Given the description of an element on the screen output the (x, y) to click on. 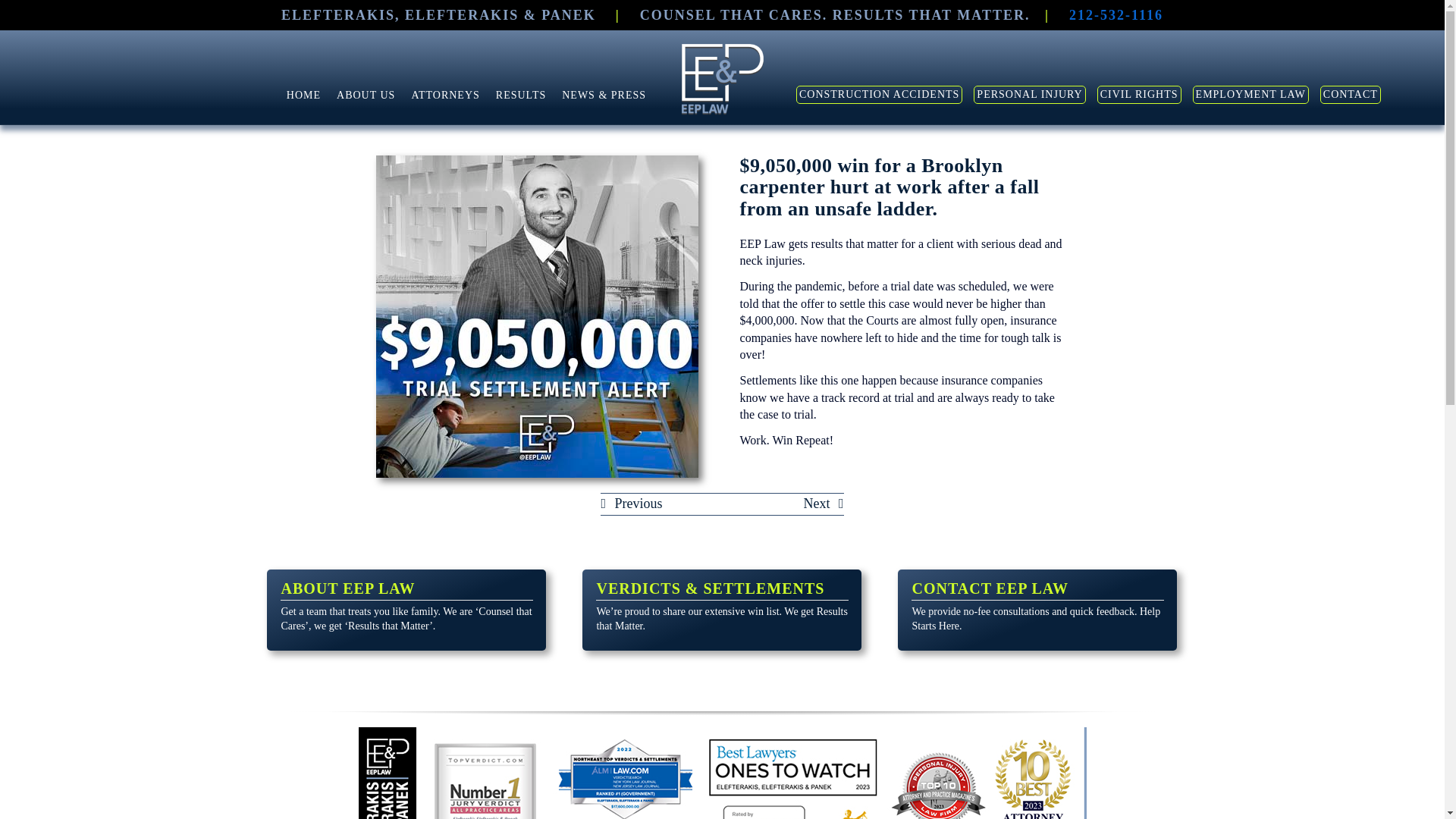
HOME (303, 95)
ABOUT US (365, 95)
eep-badges-website-2023July-desktop (722, 773)
212-532-1116 (1115, 14)
PERSONAL INJURY (1029, 94)
CIVIL RIGHTS (1139, 94)
CONTACT (1350, 94)
EMPLOYMENT LAW (1250, 94)
CONSTRUCTION ACCIDENTS (878, 94)
ATTORNEYS (444, 95)
RESULTS (521, 95)
